Given the description of an element on the screen output the (x, y) to click on. 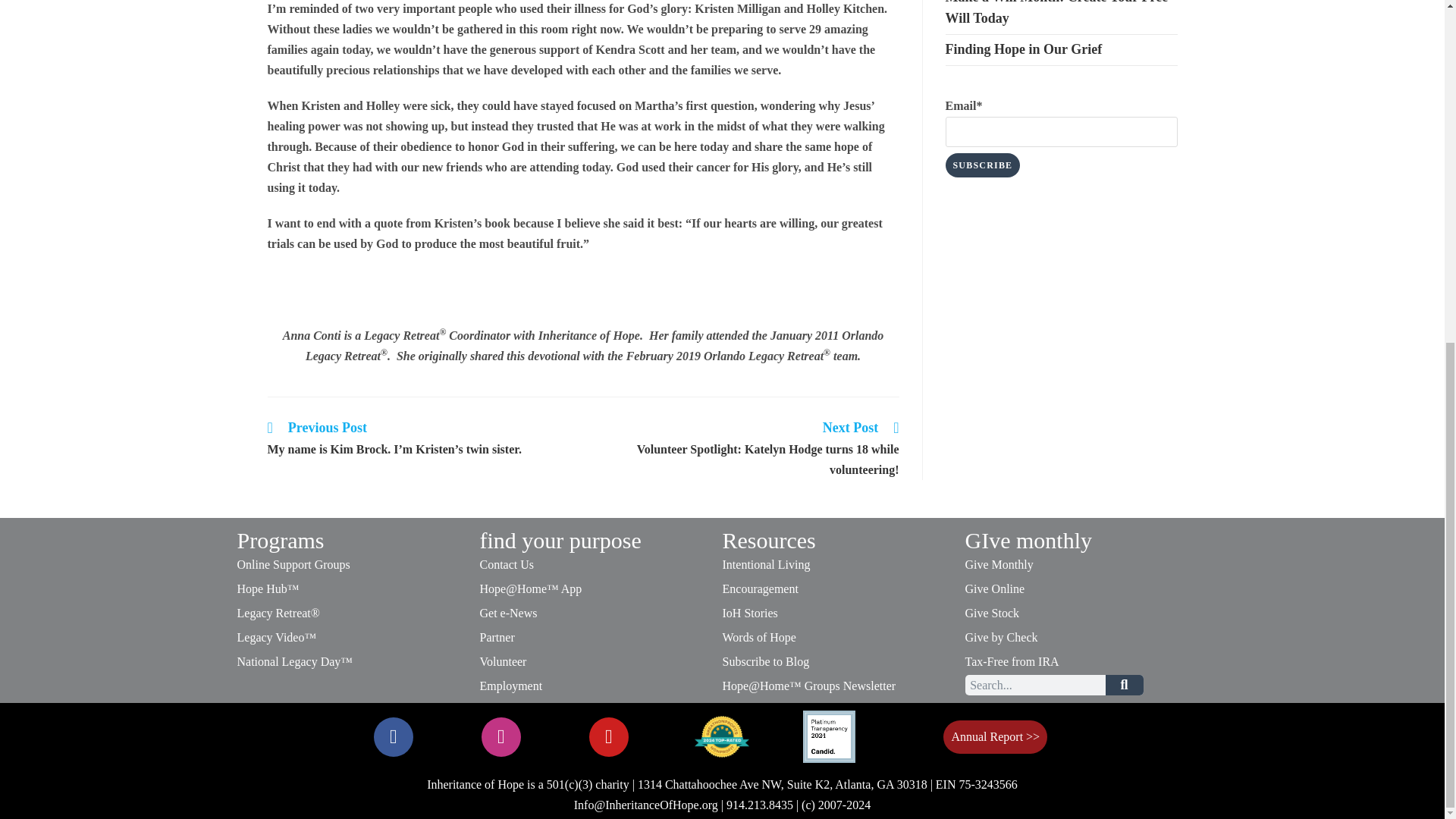
Subscribe (982, 165)
